Given the description of an element on the screen output the (x, y) to click on. 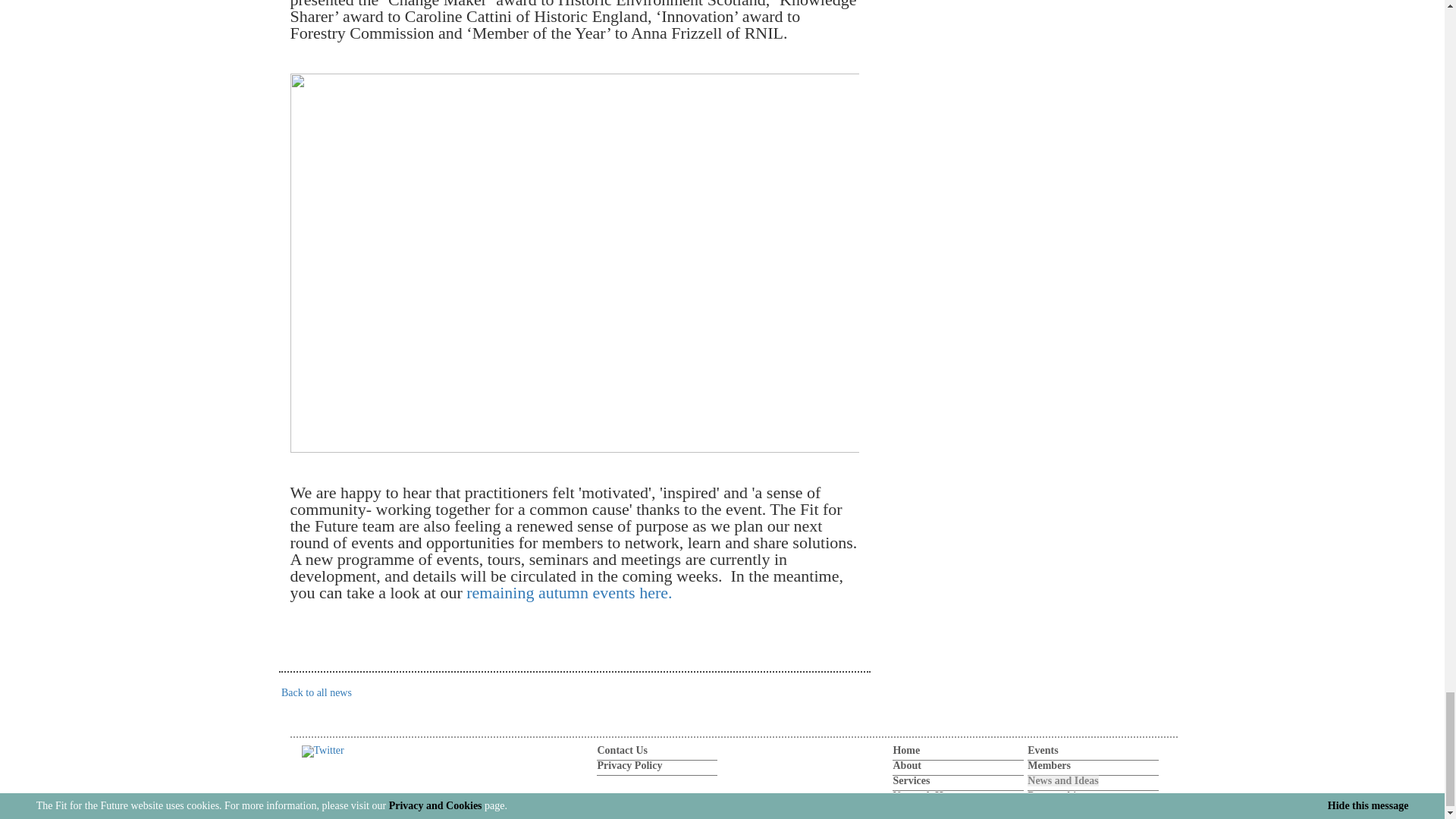
Back to all news (315, 692)
Privacy Policy (629, 765)
remaining autumn events here. (568, 592)
Contact Us (621, 749)
Twitter (322, 749)
